Given the description of an element on the screen output the (x, y) to click on. 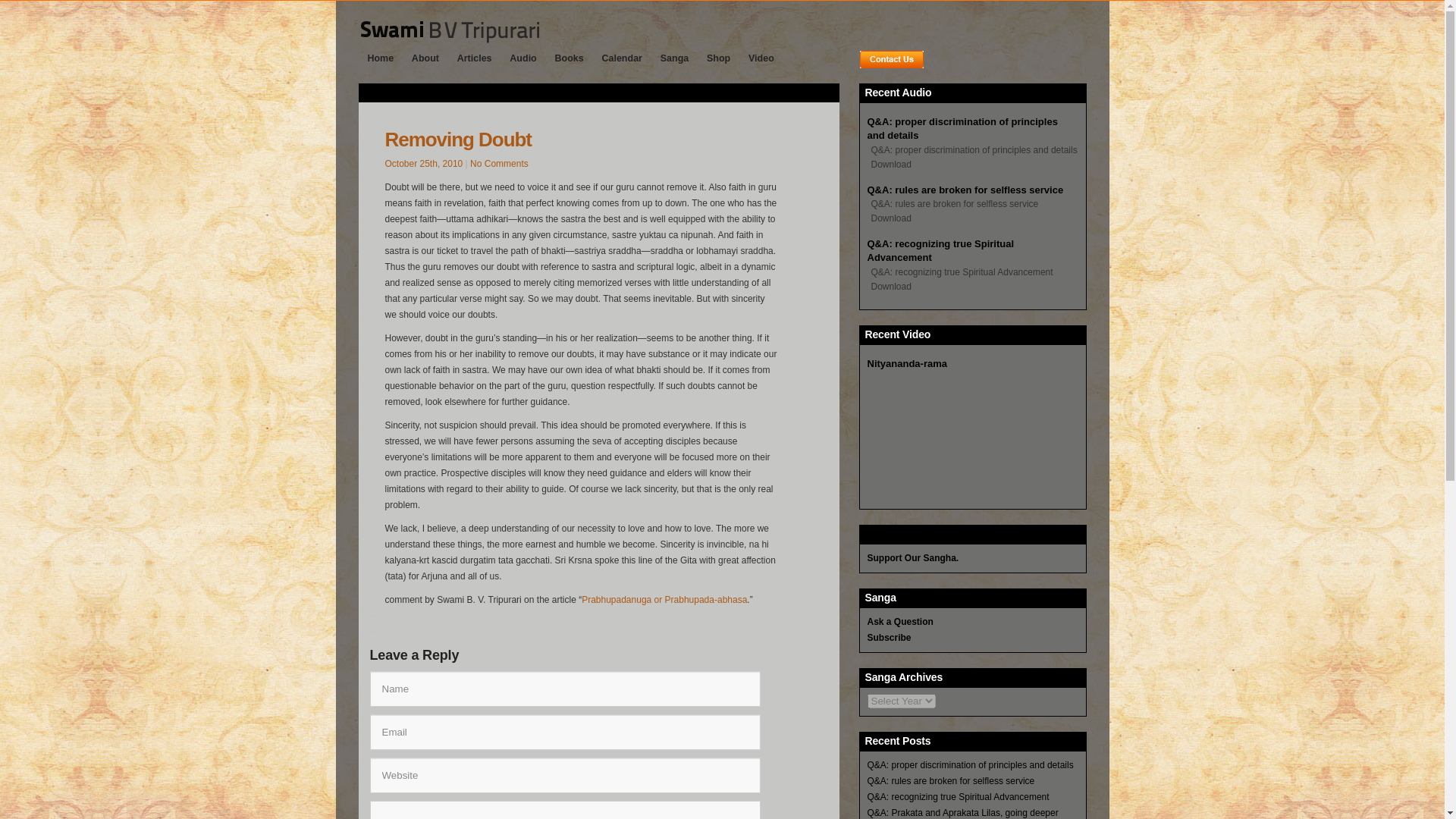
About (425, 58)
Sanga (673, 58)
Books (569, 58)
Website (564, 775)
Download (889, 283)
Permanent link to Nityananda-rama (907, 363)
Subscribe (889, 637)
Calendar (621, 58)
Articles (474, 58)
Prabhupadanuga or Prabhupada-abhasa (663, 599)
Name (564, 688)
Removing Doubt (458, 138)
Audio (522, 58)
Download (889, 215)
Email (564, 732)
